Given the description of an element on the screen output the (x, y) to click on. 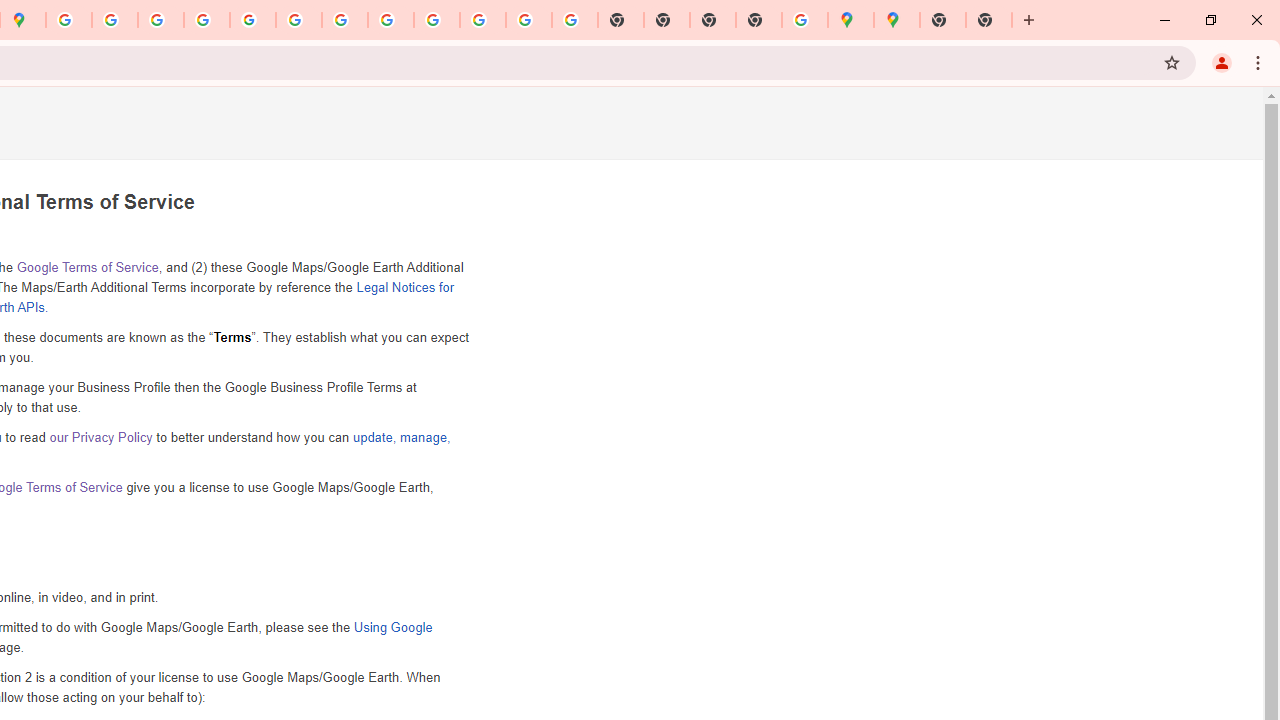
New Tab (943, 20)
New Tab (989, 20)
Google Maps (851, 20)
Use Google Maps in Space - Google Maps Help (805, 20)
Policy Accountability and Transparency - Transparency Center (69, 20)
Privacy Help Center - Policies Help (161, 20)
